Given the description of an element on the screen output the (x, y) to click on. 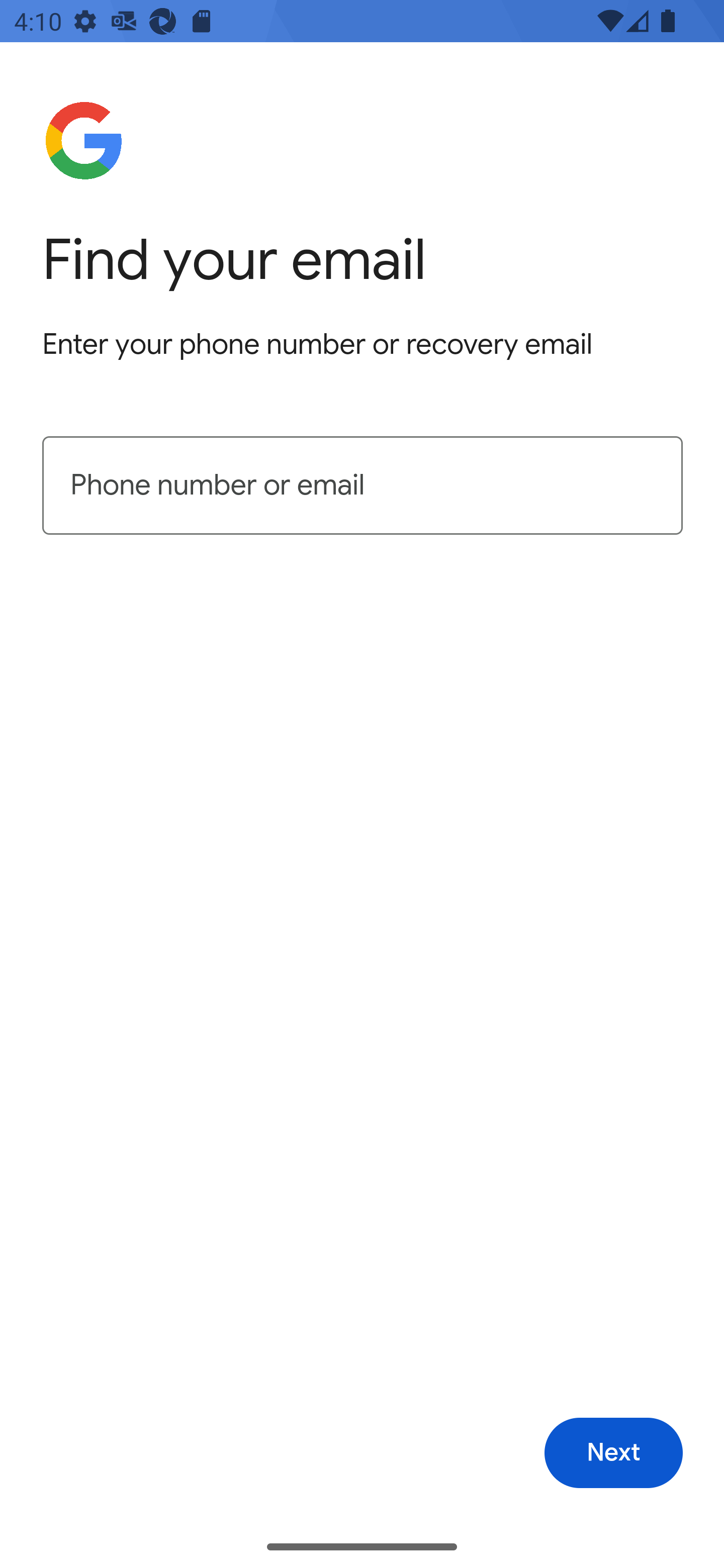
Next (613, 1453)
